Given the description of an element on the screen output the (x, y) to click on. 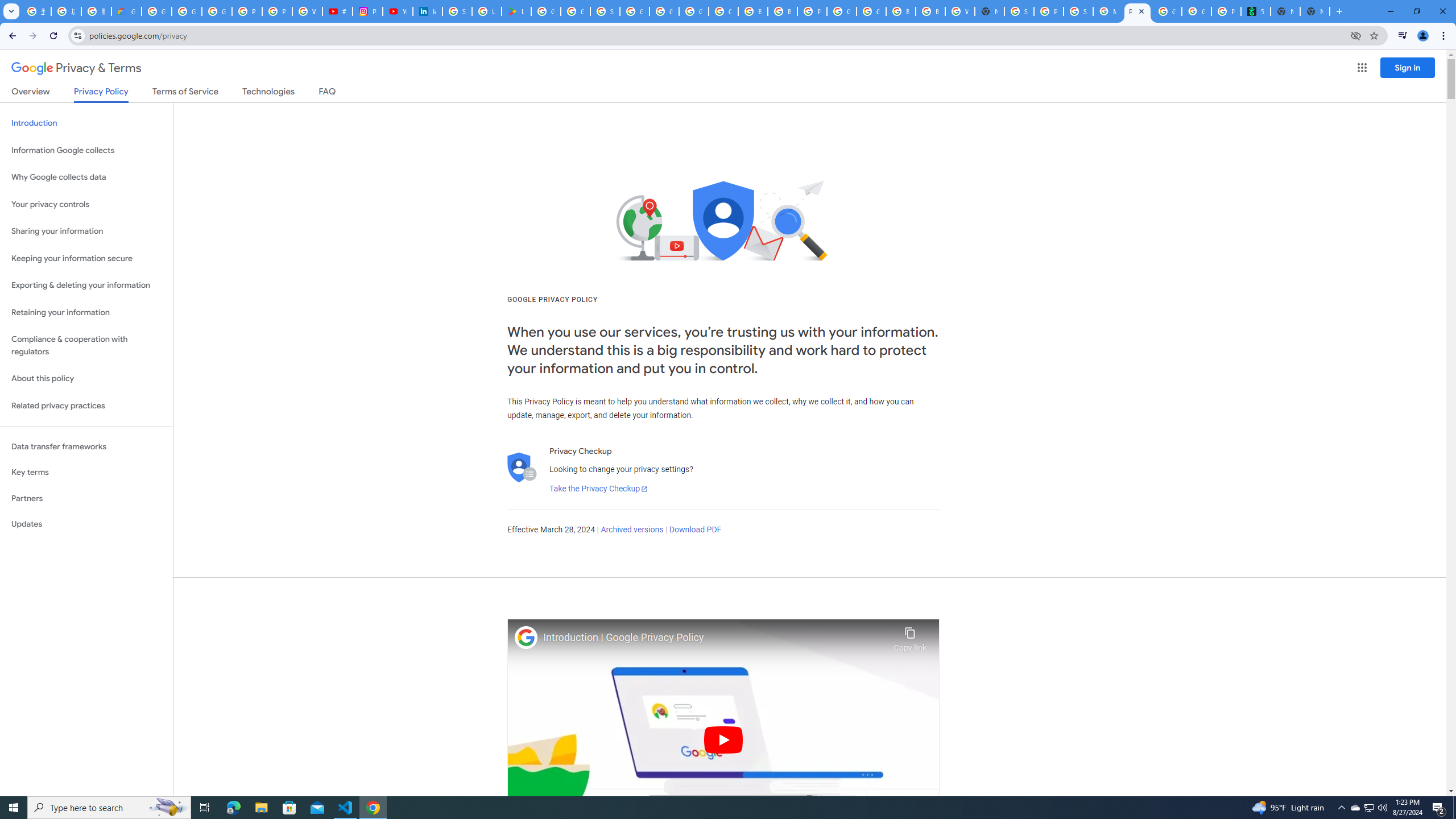
Google Cloud Platform (664, 11)
Play (723, 739)
#nbabasketballhighlights - YouTube (337, 11)
Sign in - Google Accounts (456, 11)
